Given the description of an element on the screen output the (x, y) to click on. 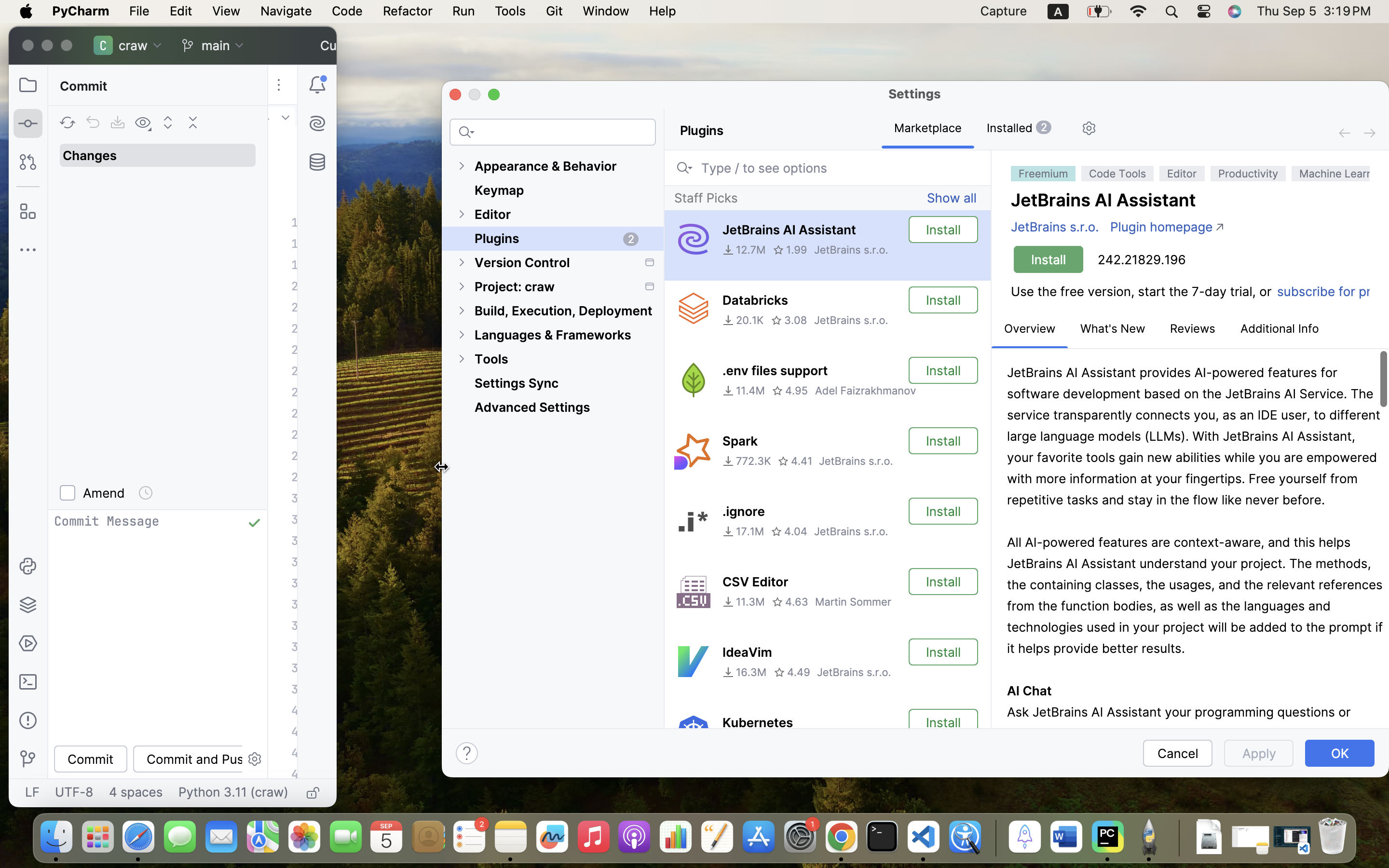
20.1K Element type: AXStaticText (742, 319)
4.41 Element type: AXStaticText (794, 460)
4.63 Element type: AXStaticText (789, 601)
Adel Faizrakhmanov Element type: AXStaticText (865, 390)
.ignore Element type: AXStaticText (743, 511)
